Given the description of an element on the screen output the (x, y) to click on. 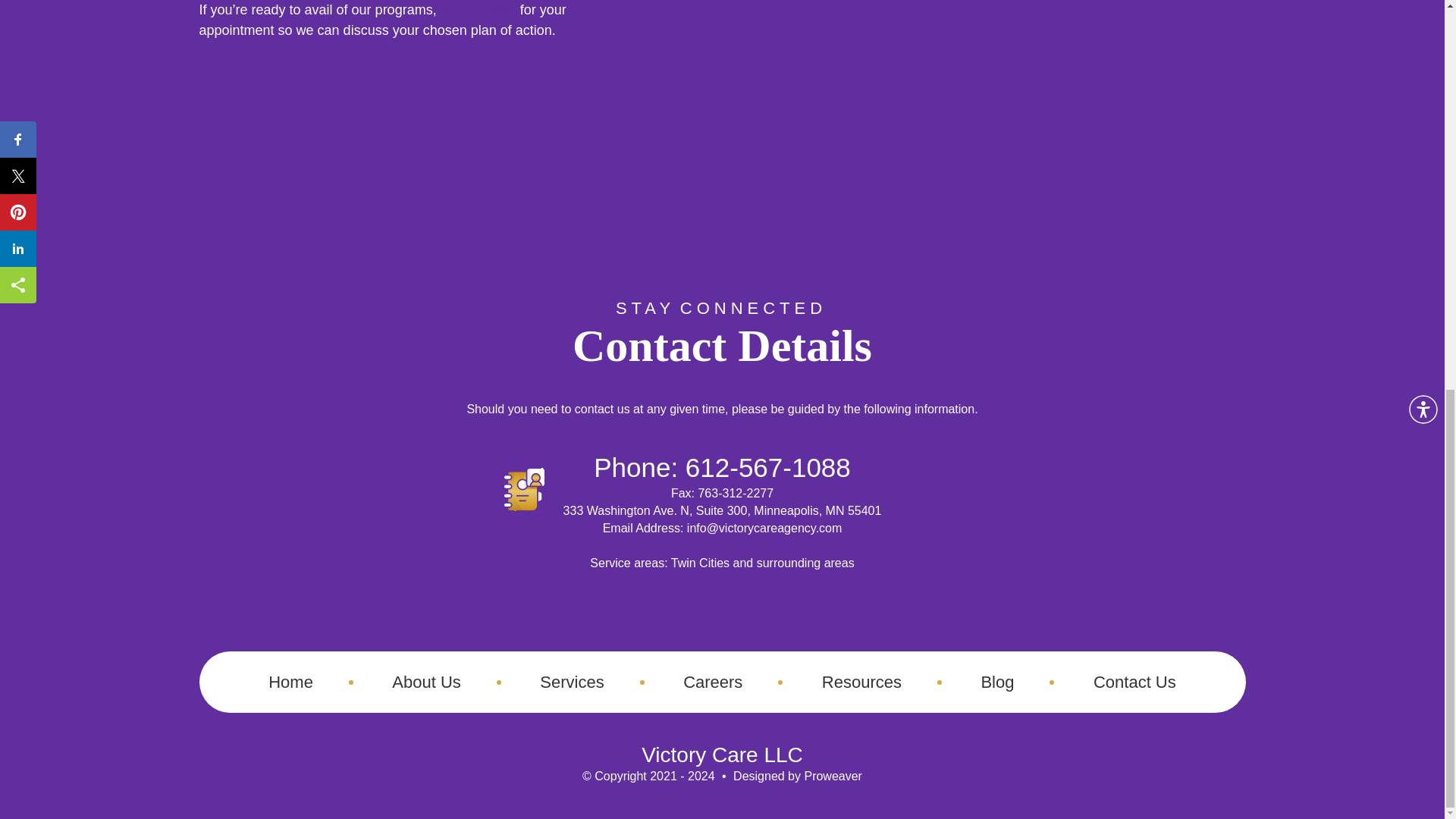
Contact Us (1134, 681)
About Us (426, 681)
Resources (861, 681)
Services (572, 681)
Careers (712, 681)
set the date (478, 10)
Proweaver (832, 775)
